Given the description of an element on the screen output the (x, y) to click on. 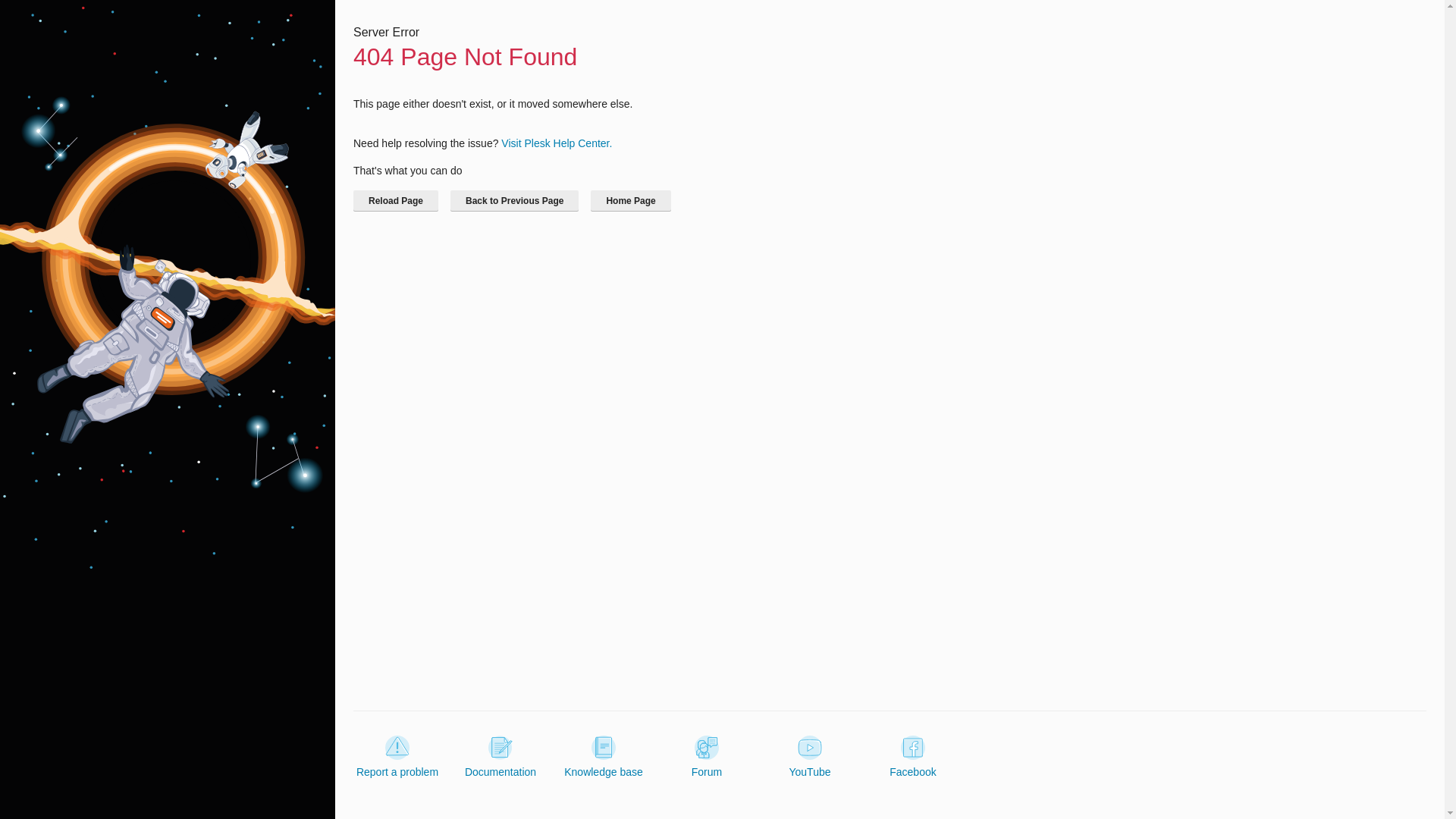
Reload Page (395, 200)
Report a problem (397, 757)
Visit Plesk Help Center. (555, 143)
Documentation (500, 757)
Facebook (912, 757)
Home Page (630, 200)
Back to Previous Page (513, 200)
YouTube (809, 757)
Knowledge base (603, 757)
Forum (706, 757)
